Given the description of an element on the screen output the (x, y) to click on. 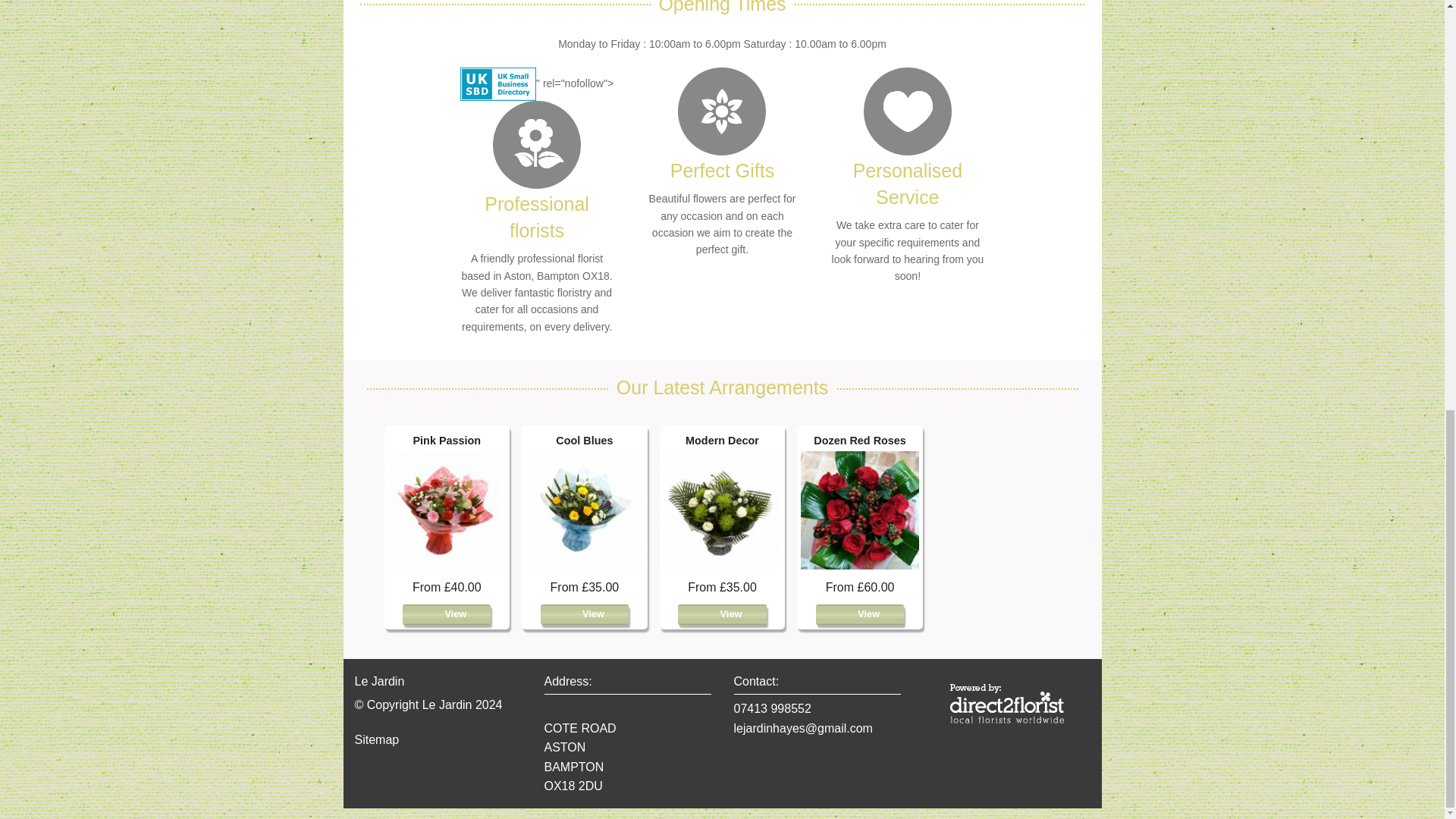
  View (446, 614)
  View (584, 614)
